Given the description of an element on the screen output the (x, y) to click on. 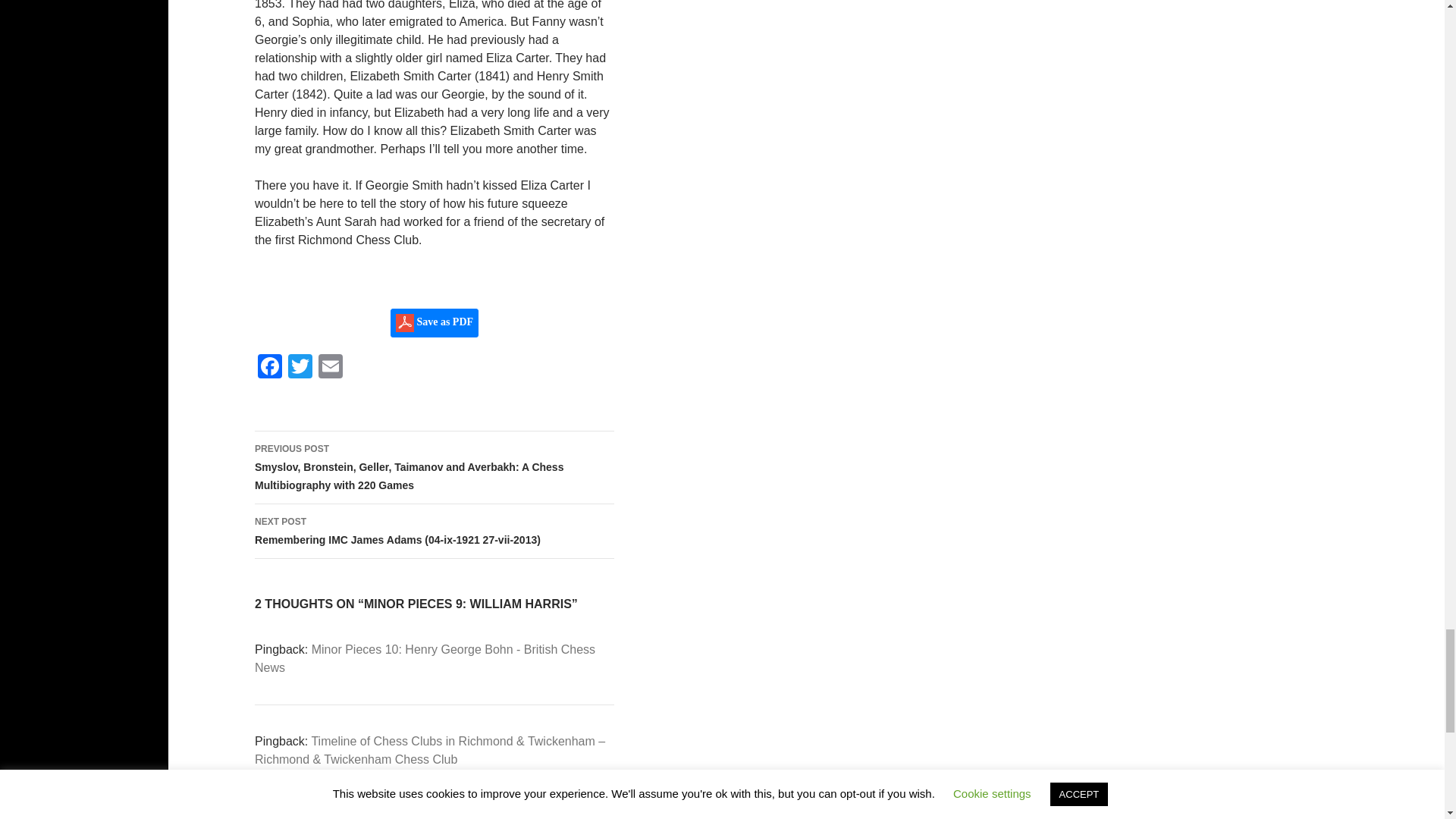
Email (330, 367)
Minor Pieces 10: Henry George Bohn - British Chess News (424, 658)
Facebook (269, 367)
Twitter (300, 367)
Twitter (300, 367)
Facebook (269, 367)
Email (330, 367)
